Given the description of an element on the screen output the (x, y) to click on. 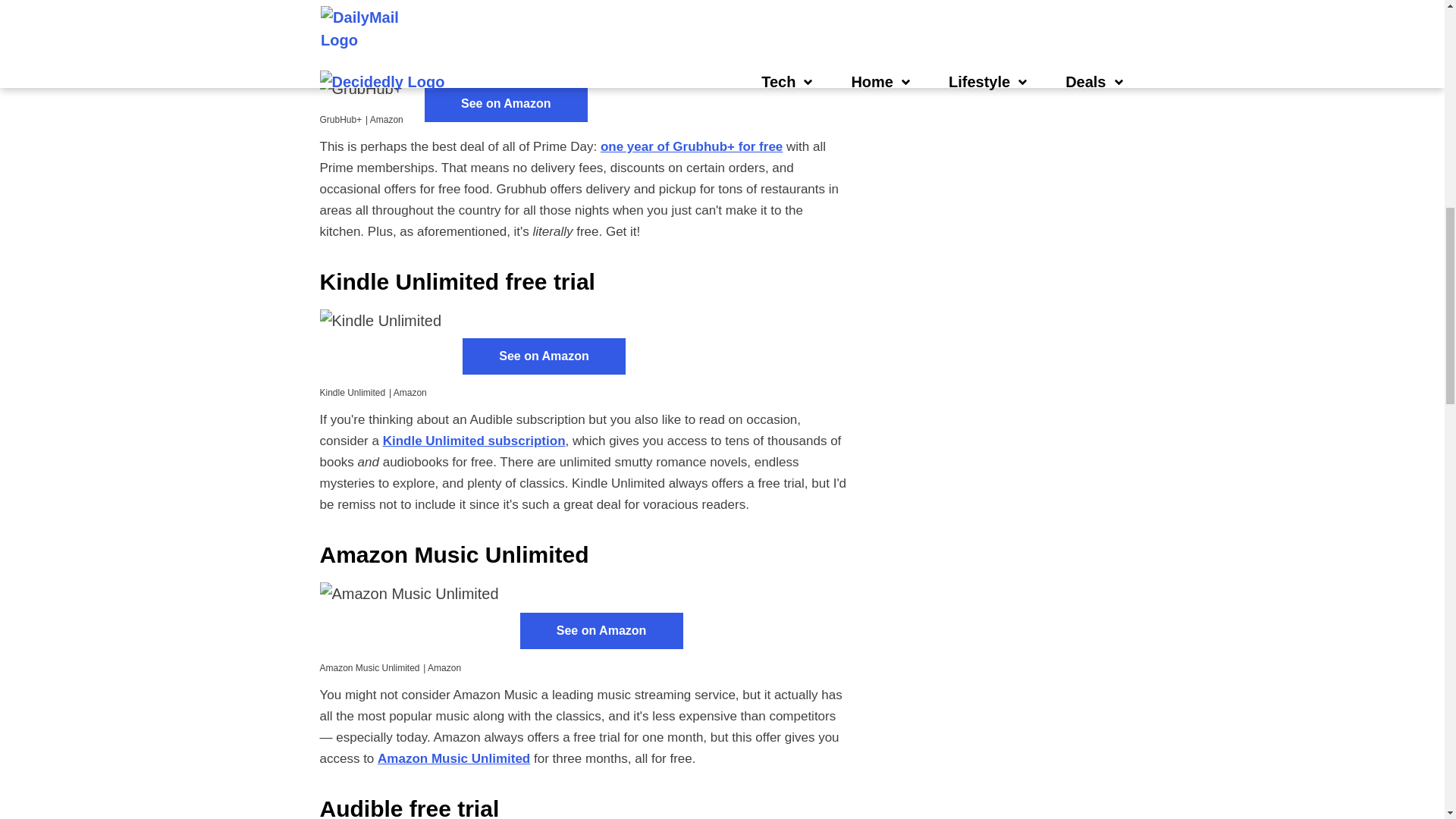
See on Amazon (506, 103)
Audible free trial (366, 1)
See on Amazon (544, 356)
Kindle Unlimited free trial (457, 281)
